Given the description of an element on the screen output the (x, y) to click on. 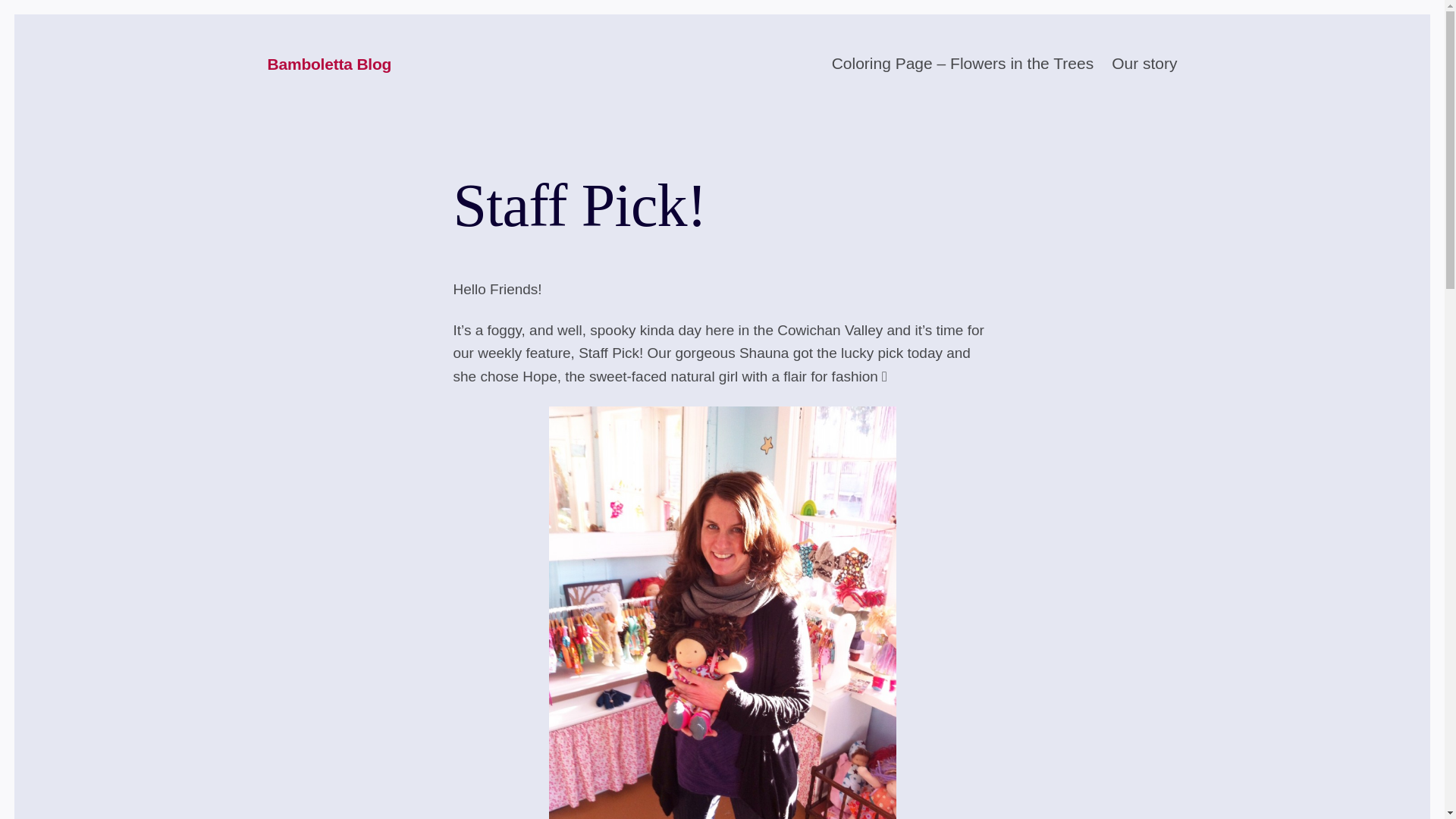
Our story (1144, 63)
Bamboletta Blog (328, 64)
